Given the description of an element on the screen output the (x, y) to click on. 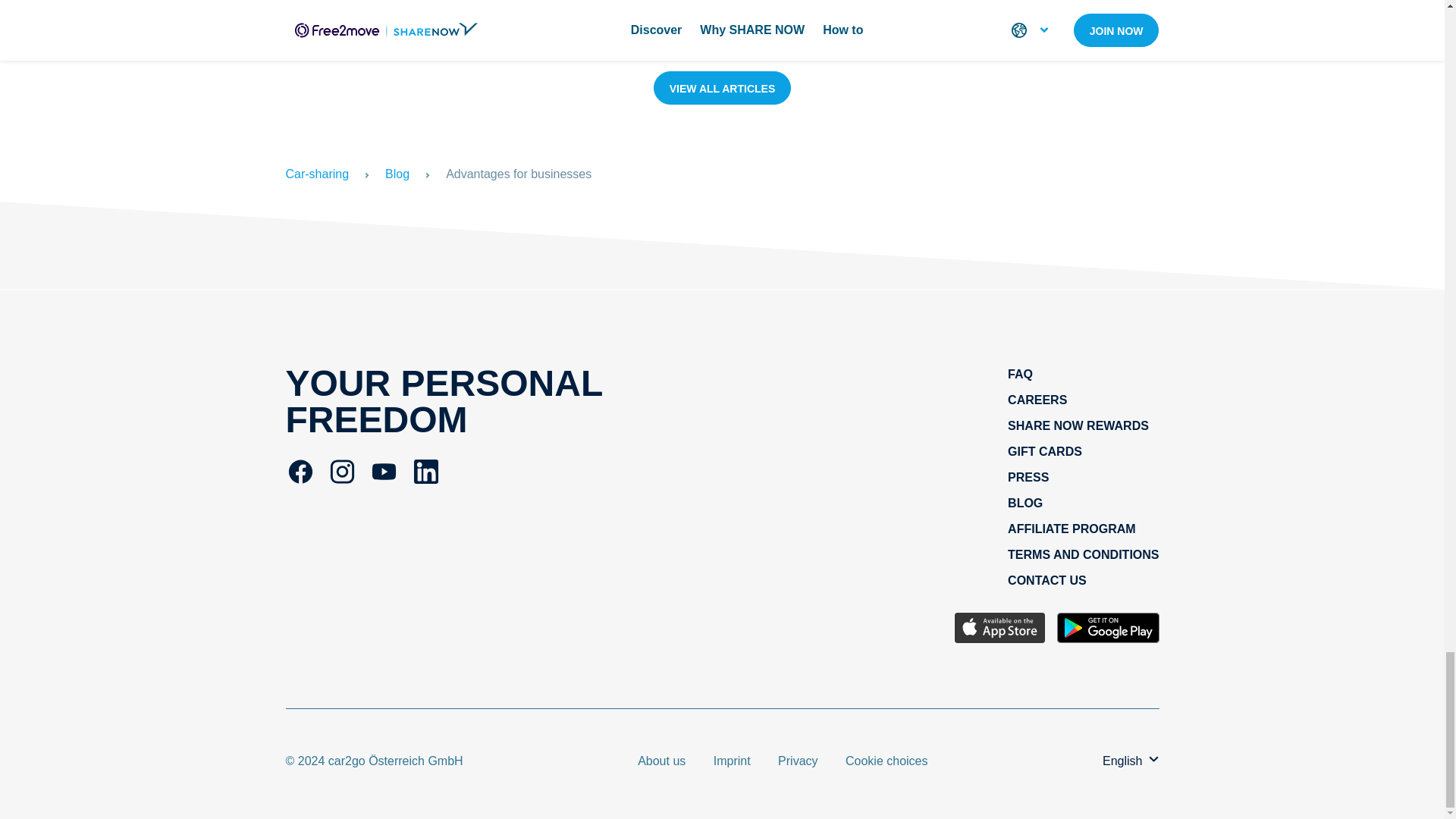
Car-sharing (317, 174)
About us (662, 760)
Traditional car rental vs. peer-to-peer car-sharing (781, 18)
A guide to exploring Paris during the global games (372, 18)
Celebrating the women pioneers in the world of mobility (1190, 18)
GIFT CARDS (1044, 451)
BLOG (1024, 502)
CONTACT US (1046, 580)
Cookie choices (886, 760)
Apple App Store (999, 629)
